Given the description of an element on the screen output the (x, y) to click on. 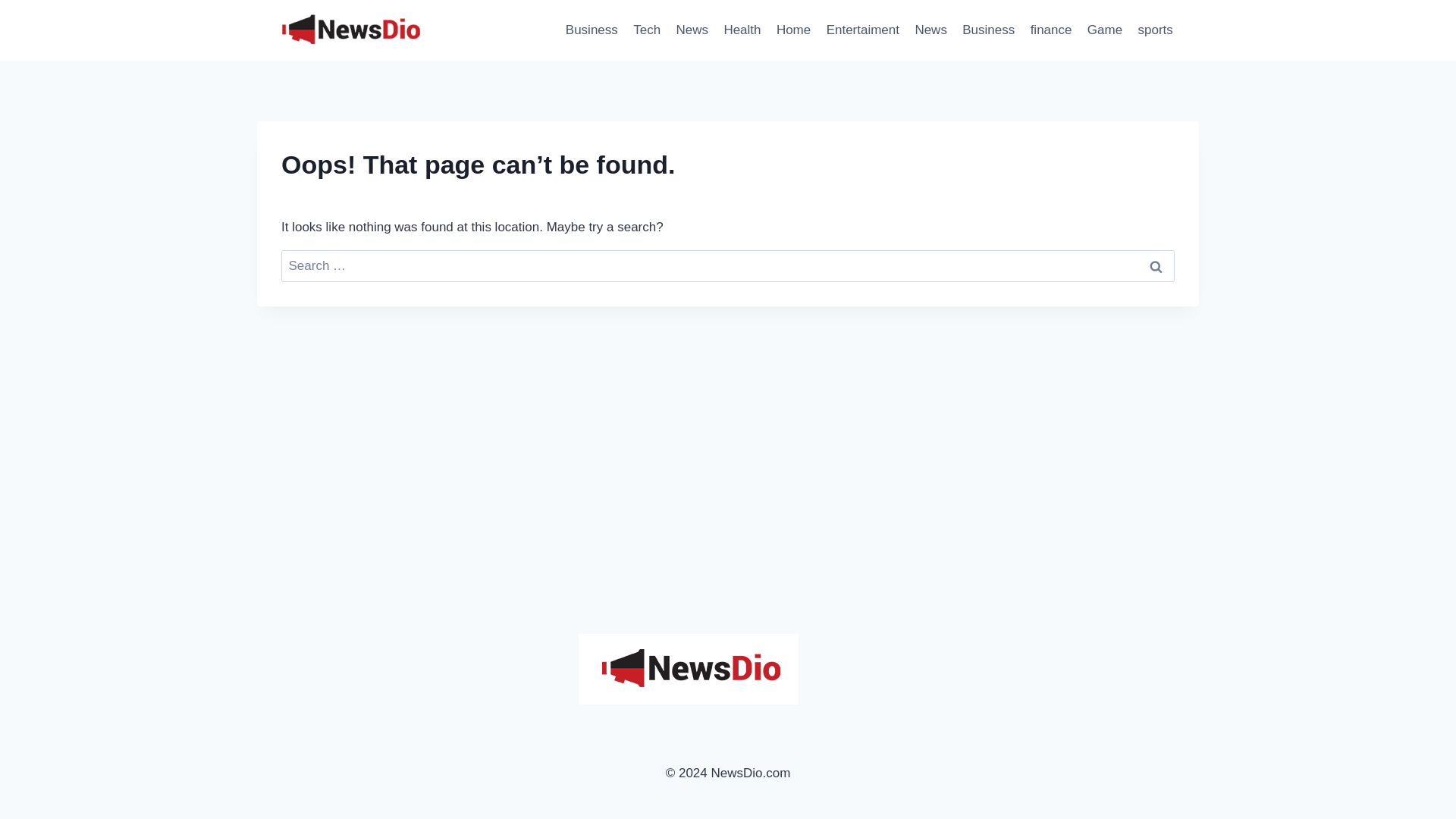
News (692, 30)
Health (742, 30)
sports (1154, 30)
Business (988, 30)
Entertaiment (862, 30)
Search (1155, 266)
Search (1155, 266)
finance (1050, 30)
Tech (647, 30)
Game (1105, 30)
News (931, 30)
Home (793, 30)
Search (1155, 266)
Business (591, 30)
